Given the description of an element on the screen output the (x, y) to click on. 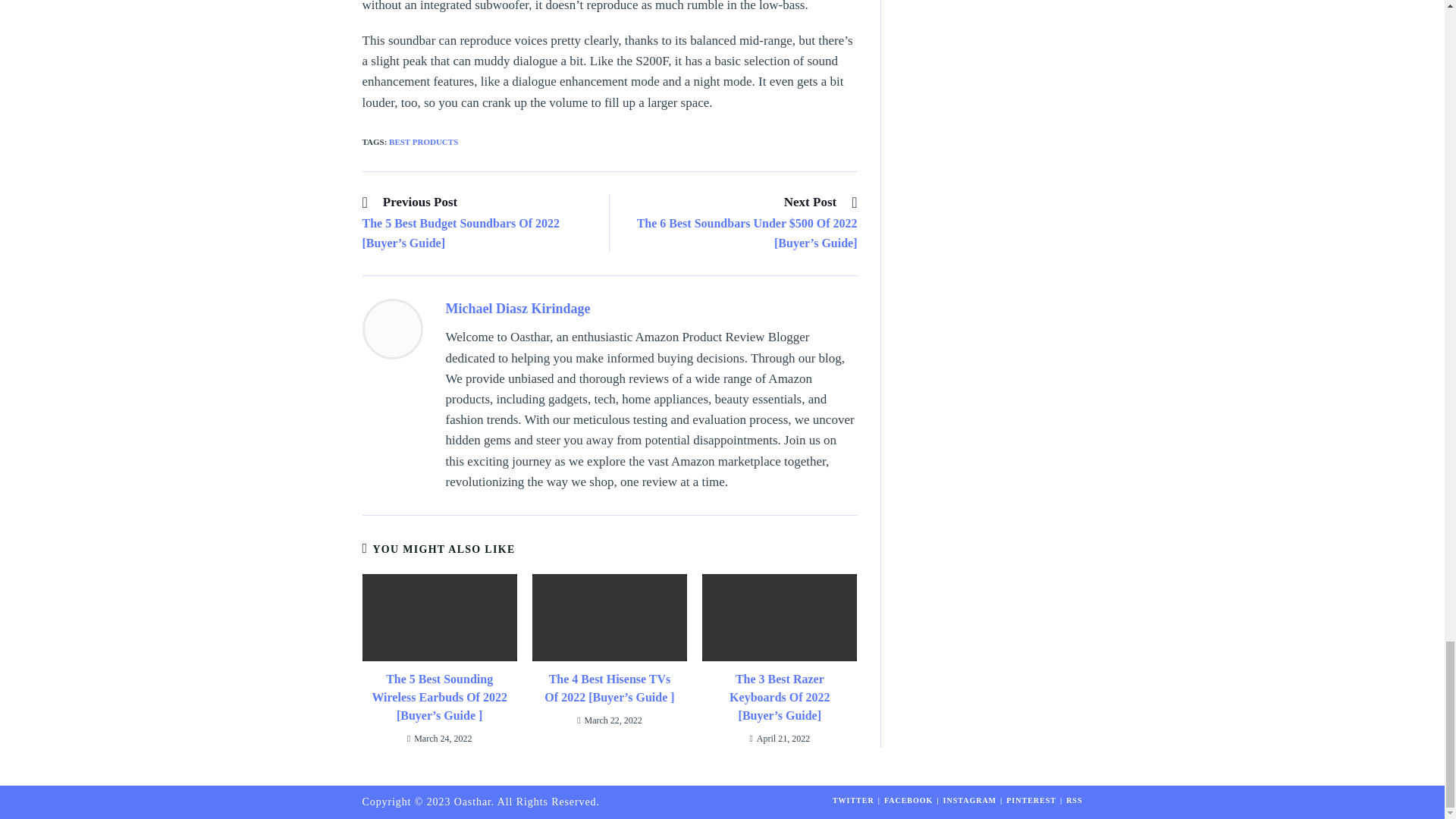
Visit author page (518, 308)
BEST PRODUCTS (423, 141)
Visit author page (392, 328)
